Given the description of an element on the screen output the (x, y) to click on. 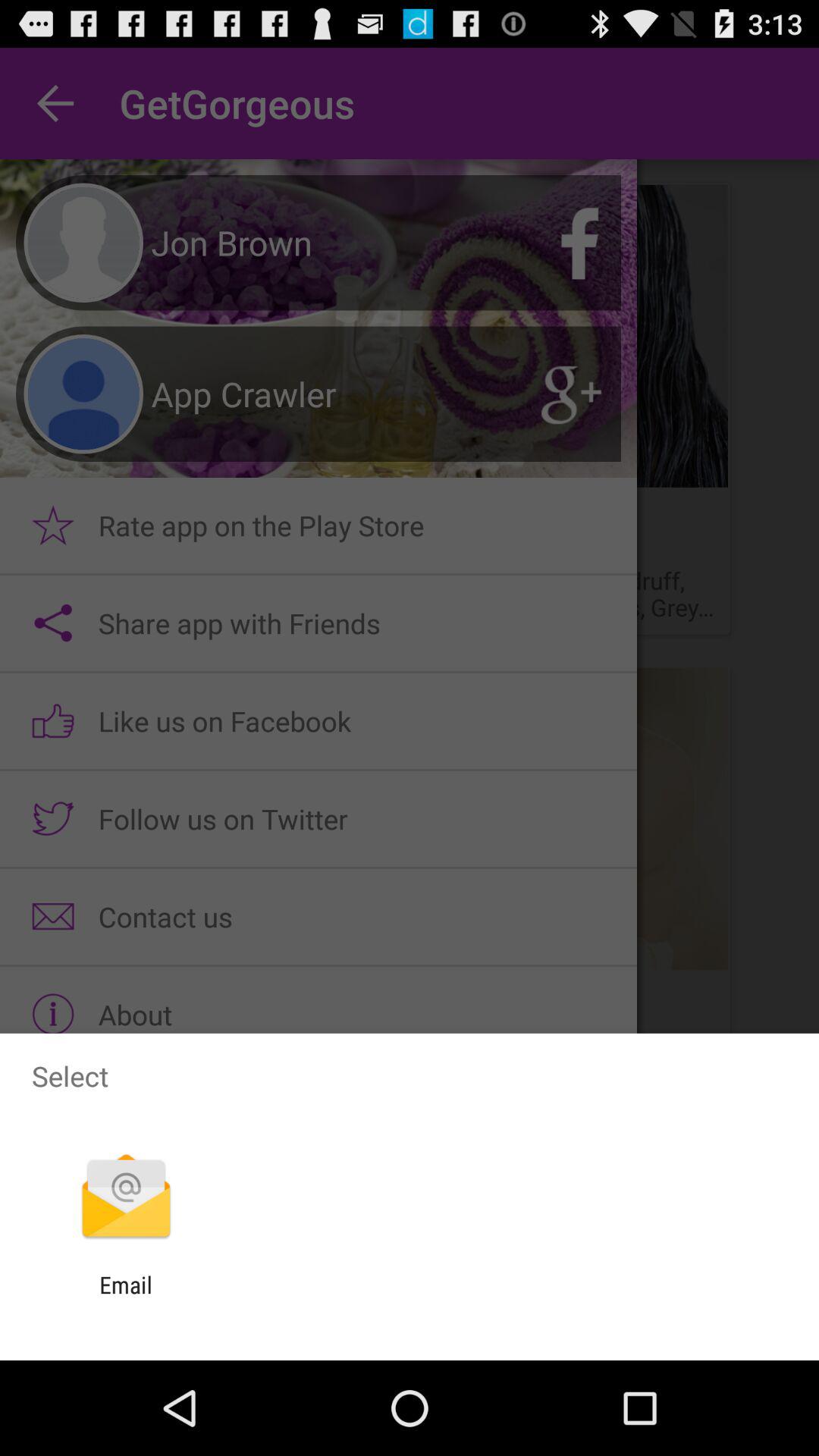
swipe to the email icon (125, 1298)
